Given the description of an element on the screen output the (x, y) to click on. 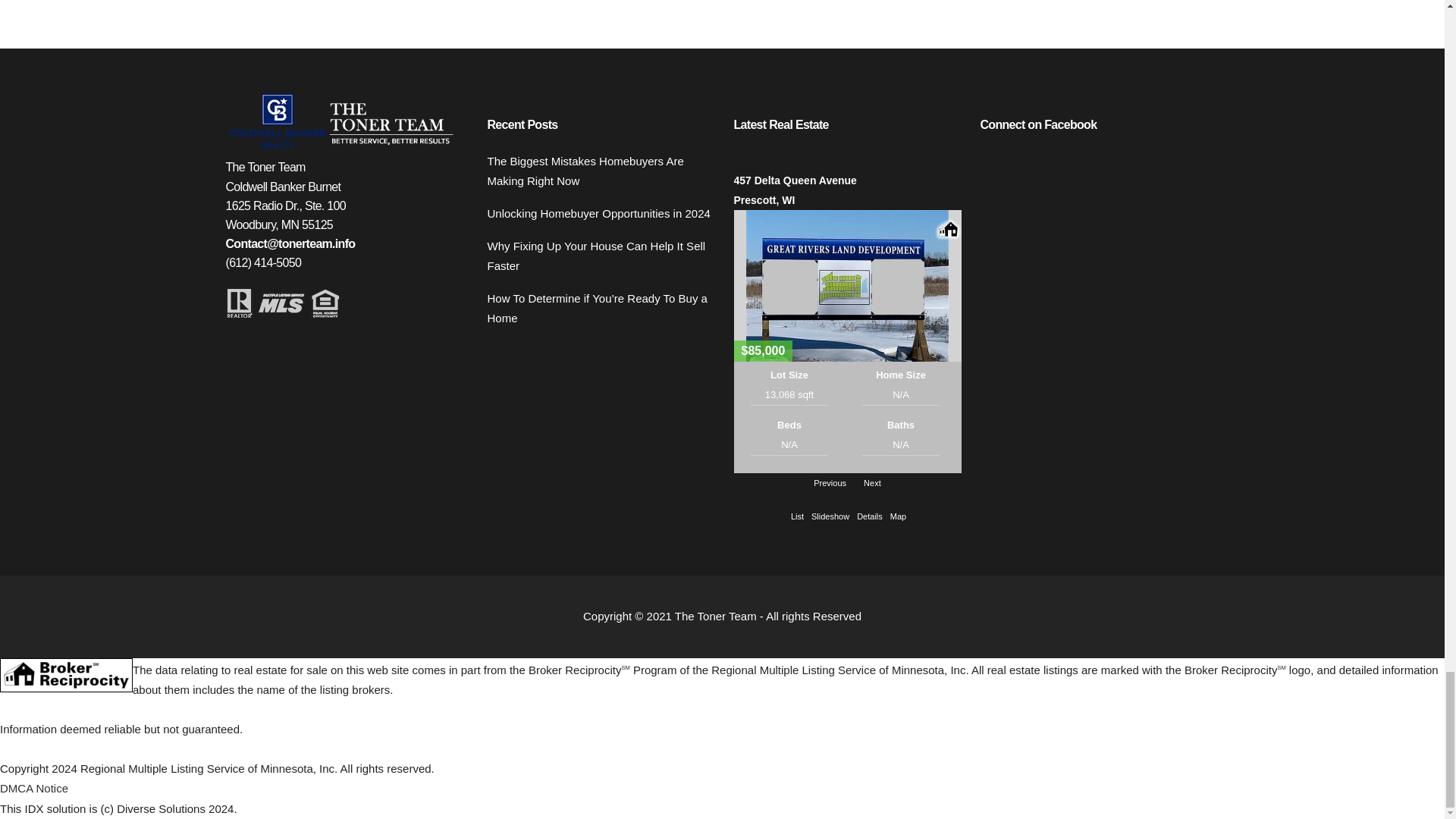
Unlocking Homebuyer Opportunities in 2024 (598, 213)
The Biggest Mistakes Homebuyers Are Making Right Now (598, 170)
Why Fixing Up Your House Can Help It Sell Faster (598, 255)
